Given the description of an element on the screen output the (x, y) to click on. 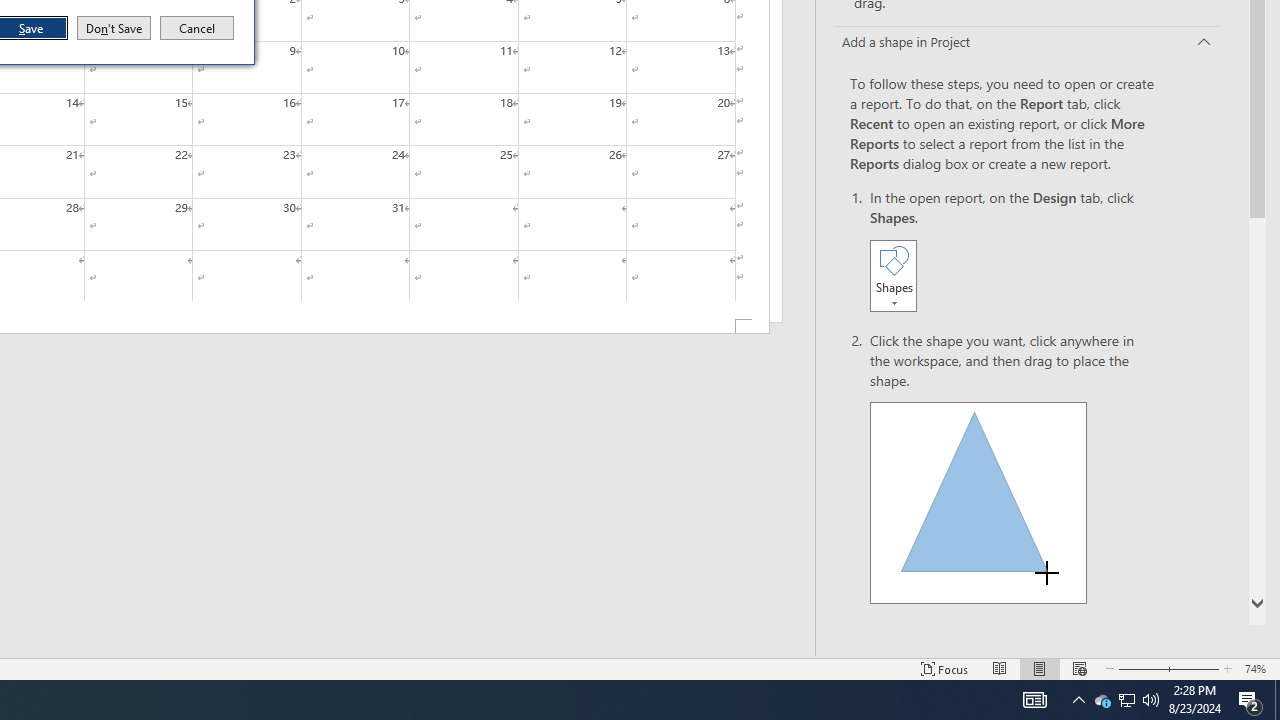
Insert Shapes button (893, 275)
Q2790: 100% (1151, 699)
Action Center, 2 new notifications (1250, 699)
Drawing a shape (1126, 699)
Don't Save (978, 502)
Notification Chevron (113, 27)
Show desktop (1078, 699)
User Promoted Notification Area (1277, 699)
